Given the description of an element on the screen output the (x, y) to click on. 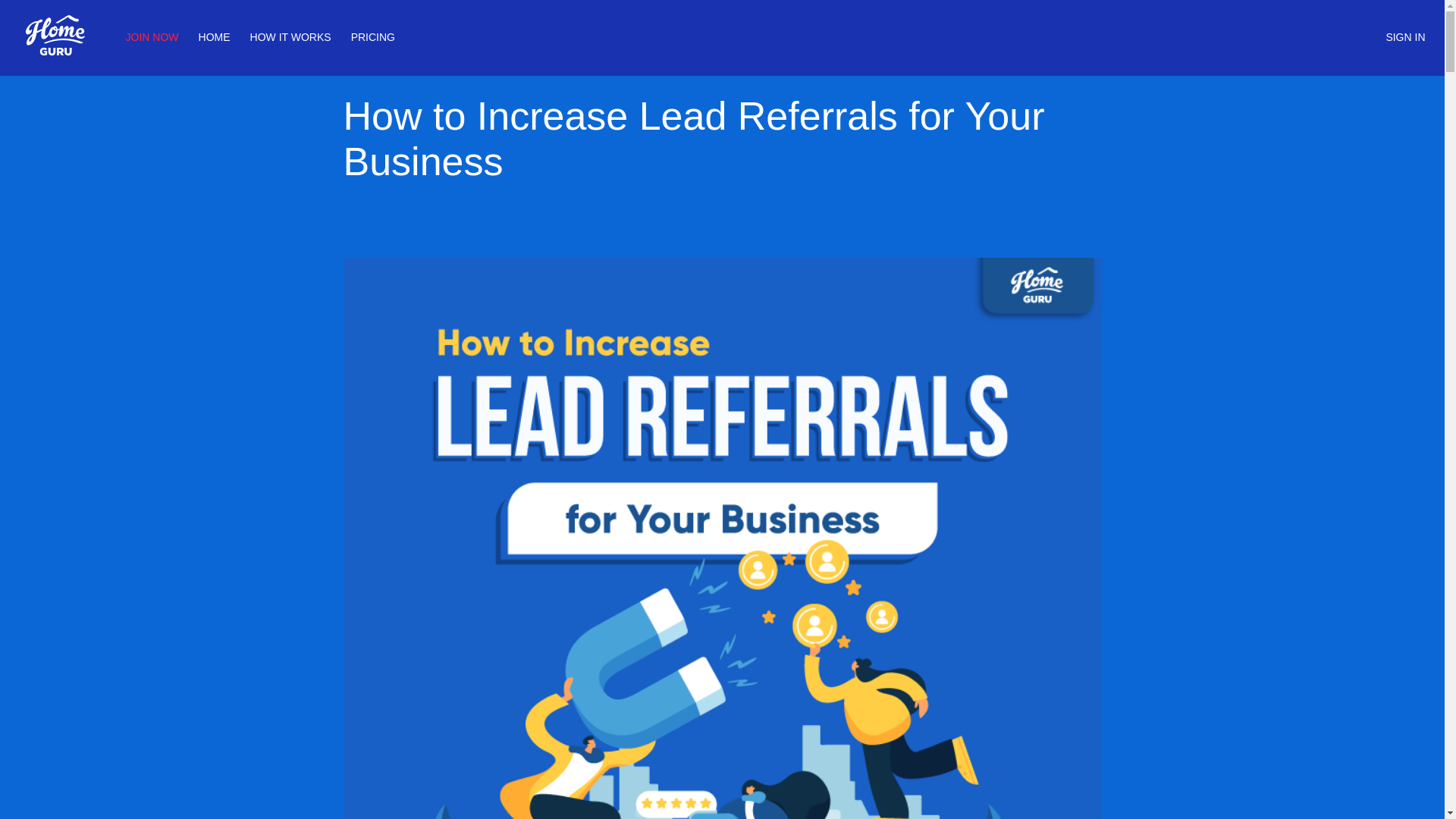
HOW IT WORKS (290, 37)
JOIN NOW (152, 37)
SIGN IN (1405, 37)
PRICING (372, 37)
HOME (214, 37)
